Given the description of an element on the screen output the (x, y) to click on. 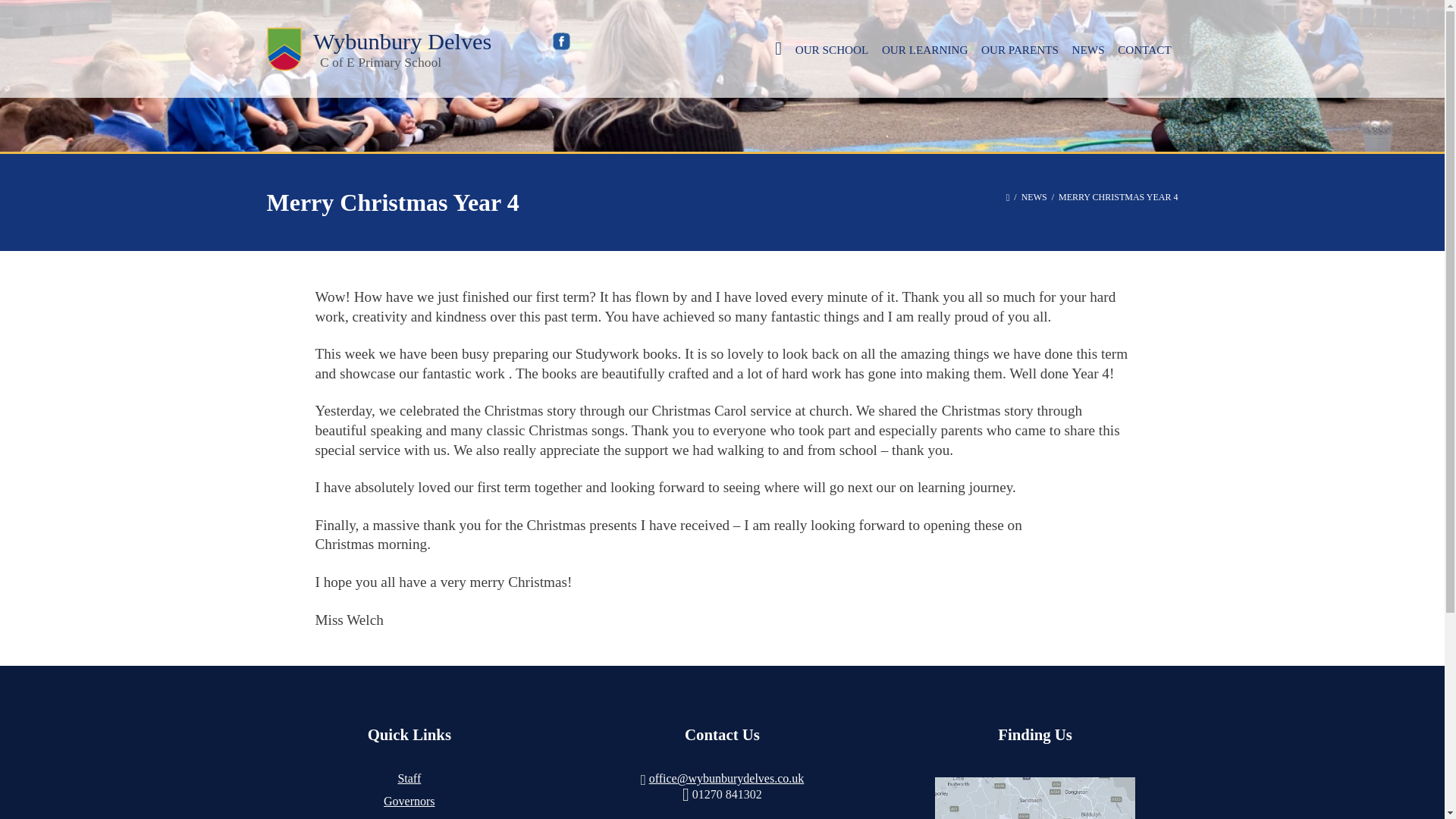
OUR LEARNING (924, 48)
Visit our Facebook Page (560, 40)
